Given the description of an element on the screen output the (x, y) to click on. 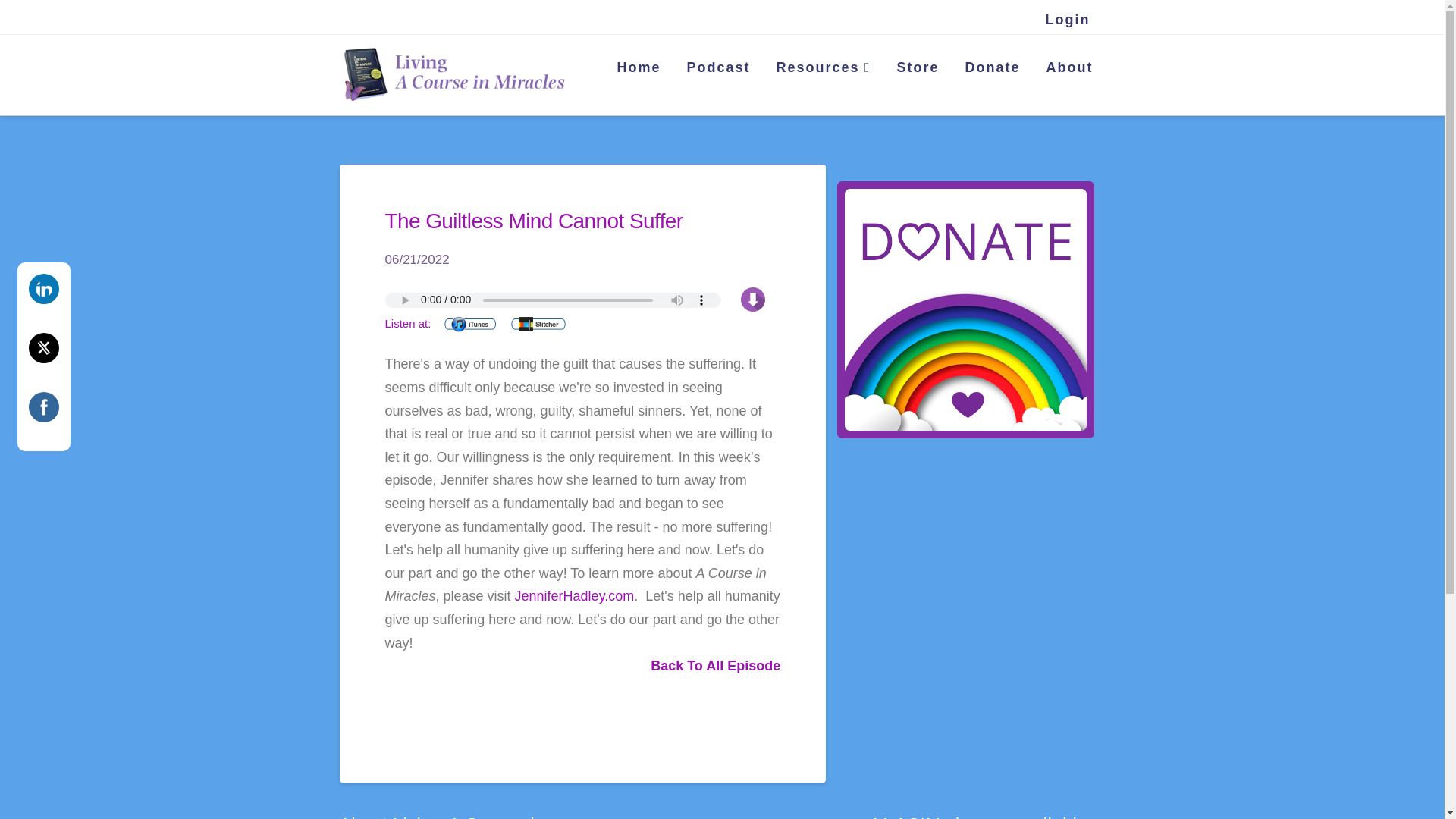
Subscribe on Stitcher (537, 323)
Facebook (43, 406)
Podcast (717, 69)
Store (916, 69)
JenniferHadley.com (574, 595)
Subscribe on iTunes (469, 323)
Twitter (43, 347)
About (1068, 69)
Download Audio (753, 298)
Resources (822, 69)
Login (1067, 19)
Home (637, 69)
Back To All Episode (715, 665)
Donate (991, 69)
